Given the description of an element on the screen output the (x, y) to click on. 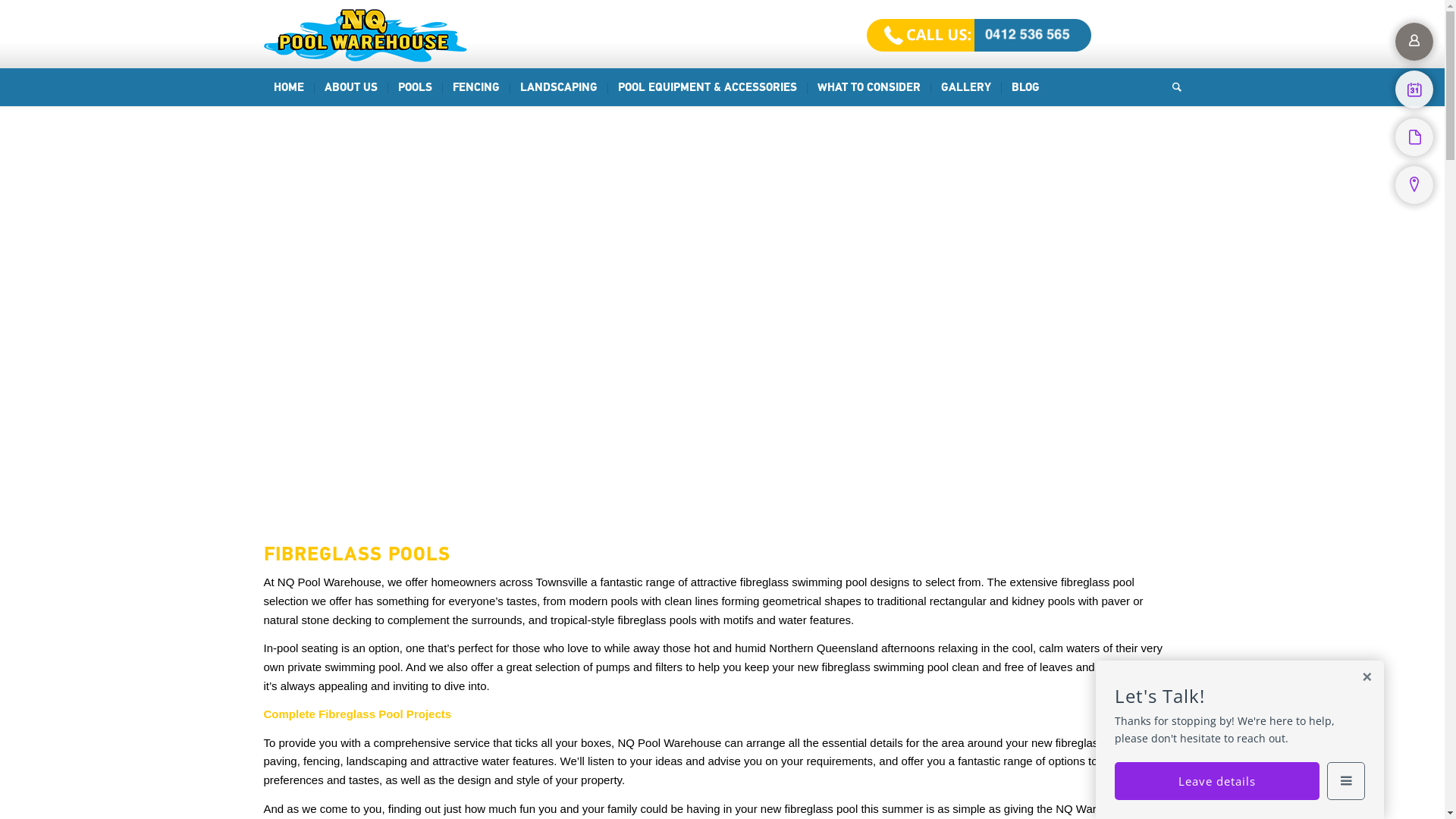
FENCING Element type: text (474, 87)
BLOG Element type: text (1025, 87)
Leave details Element type: text (1216, 781)
GALLERY Element type: text (964, 87)
POOLS Element type: text (413, 87)
HOME Element type: text (288, 87)
ABOUT US Element type: text (350, 87)
POOL EQUIPMENT & ACCESSORIES Element type: text (706, 87)
WHAT TO CONSIDER Element type: text (868, 87)
LANDSCAPING Element type: text (558, 87)
